Given the description of an element on the screen output the (x, y) to click on. 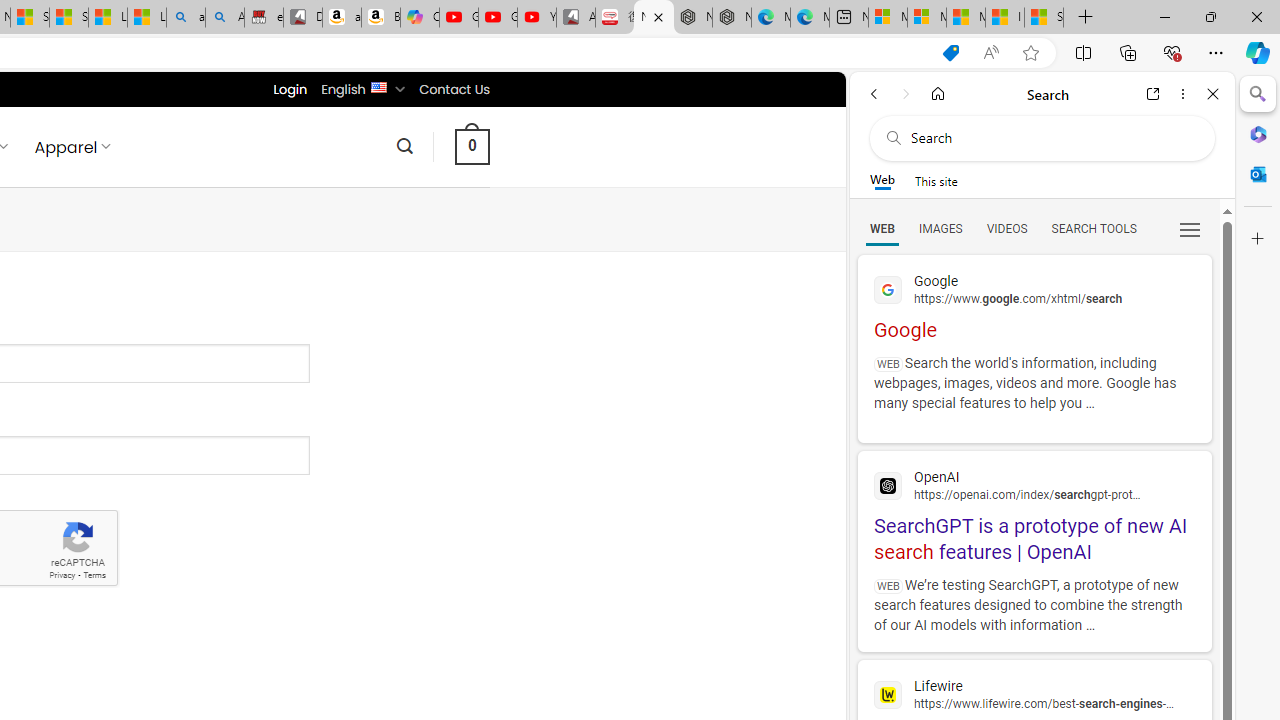
Contact Us (454, 89)
amazon - Search (185, 17)
Google (1034, 304)
Nordace - My Account (653, 17)
VIDEOS (1006, 228)
Search the web (1051, 137)
